Given the description of an element on the screen output the (x, y) to click on. 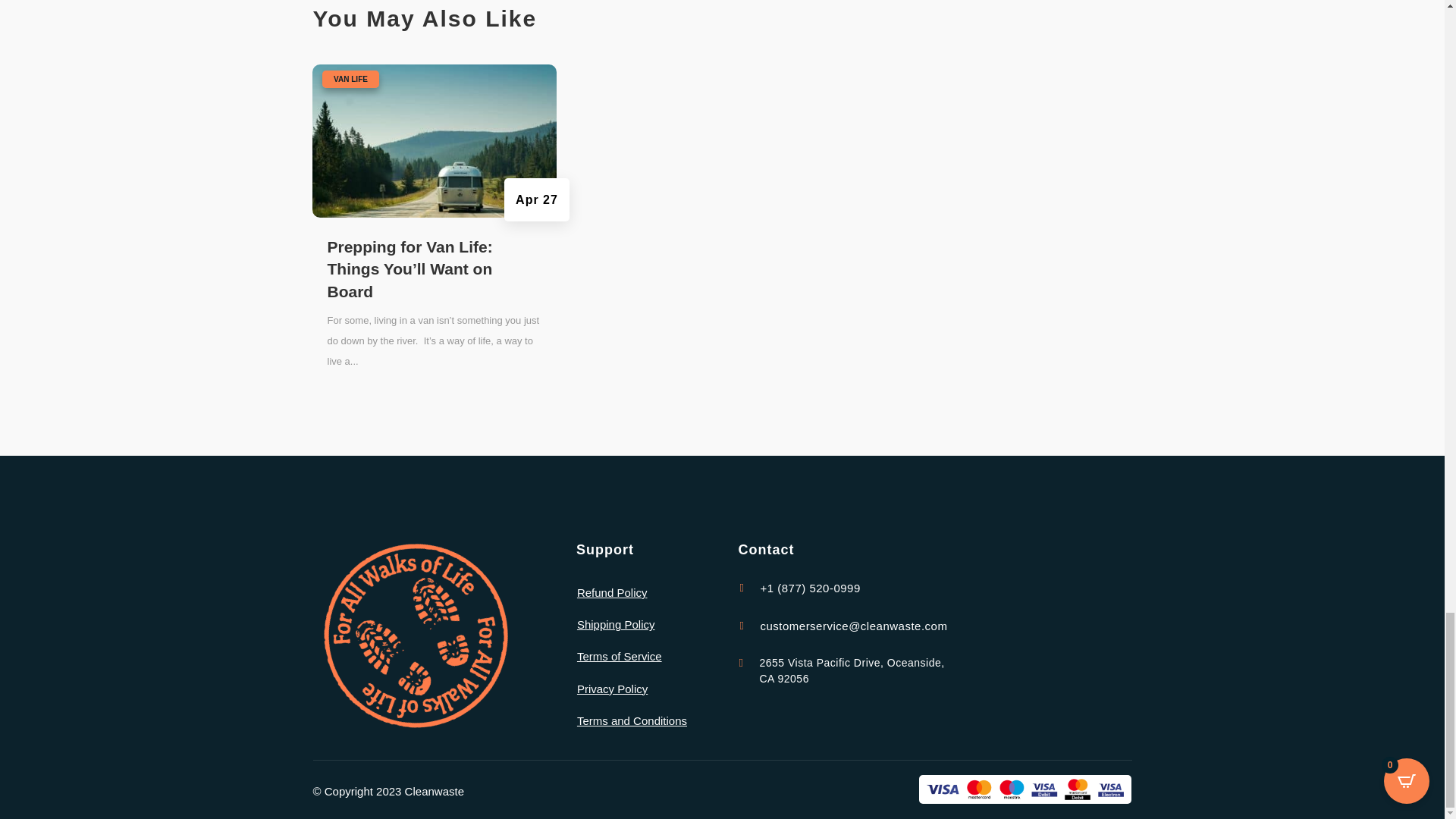
Molti-Payment-Methods-footer (1025, 789)
